Given the description of an element on the screen output the (x, y) to click on. 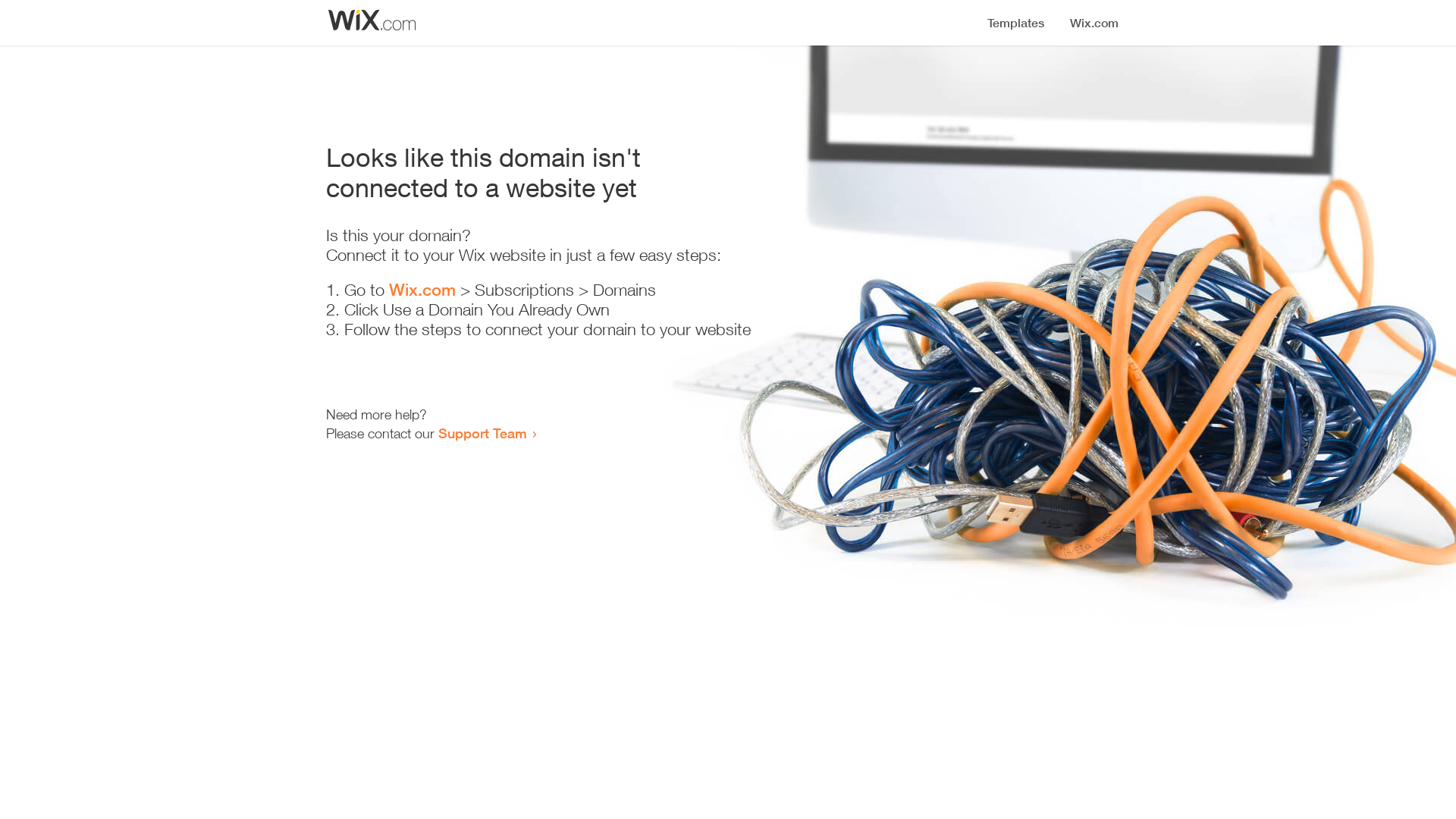
Wix.com Element type: text (422, 289)
Support Team Element type: text (482, 432)
